Given the description of an element on the screen output the (x, y) to click on. 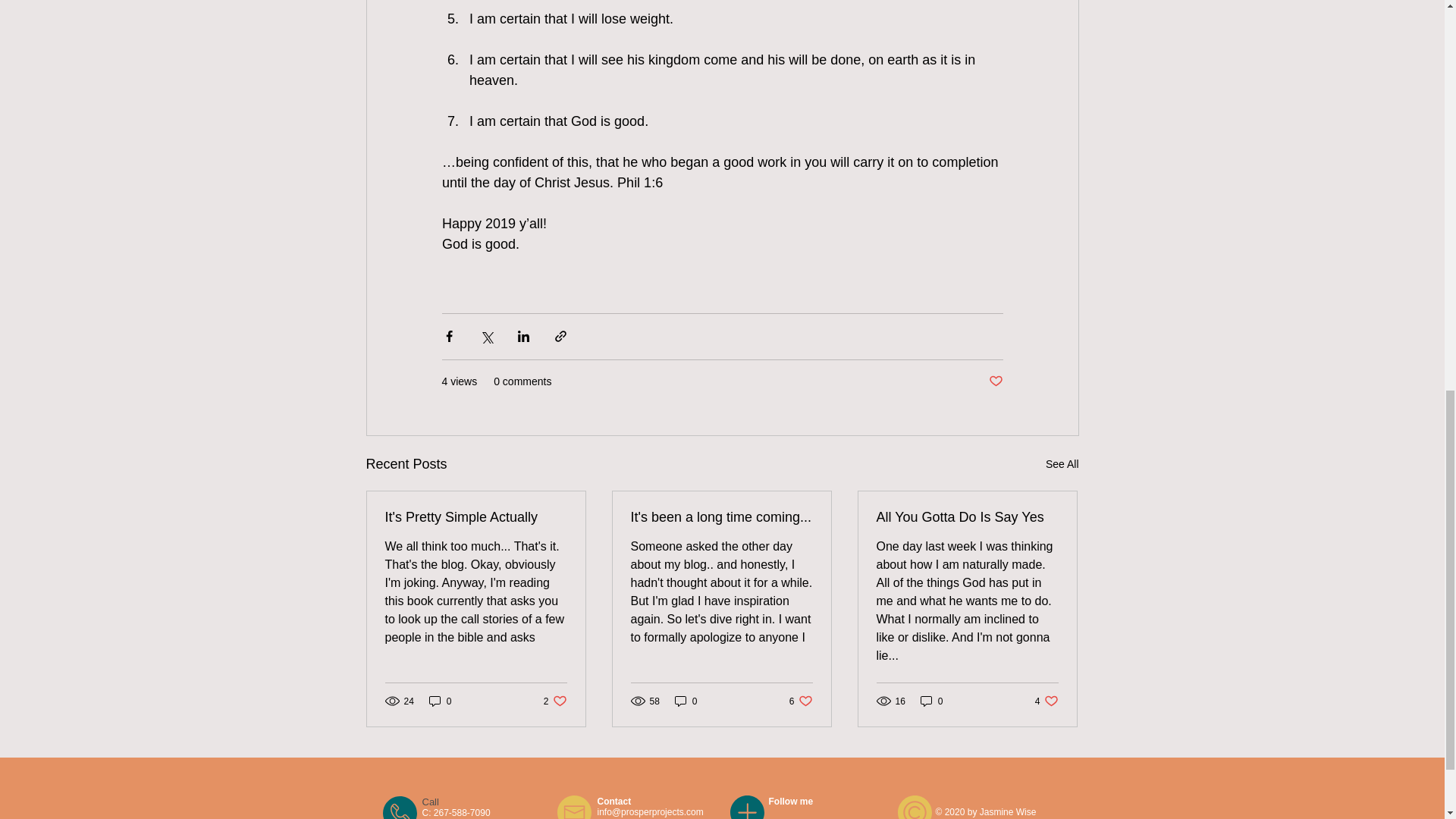
0 (931, 700)
0 (800, 700)
See All (685, 700)
It's been a long time coming... (555, 700)
0 (1061, 464)
All You Gotta Do Is Say Yes (721, 517)
Post not marked as liked (1046, 700)
It's Pretty Simple Actually (440, 700)
